Given the description of an element on the screen output the (x, y) to click on. 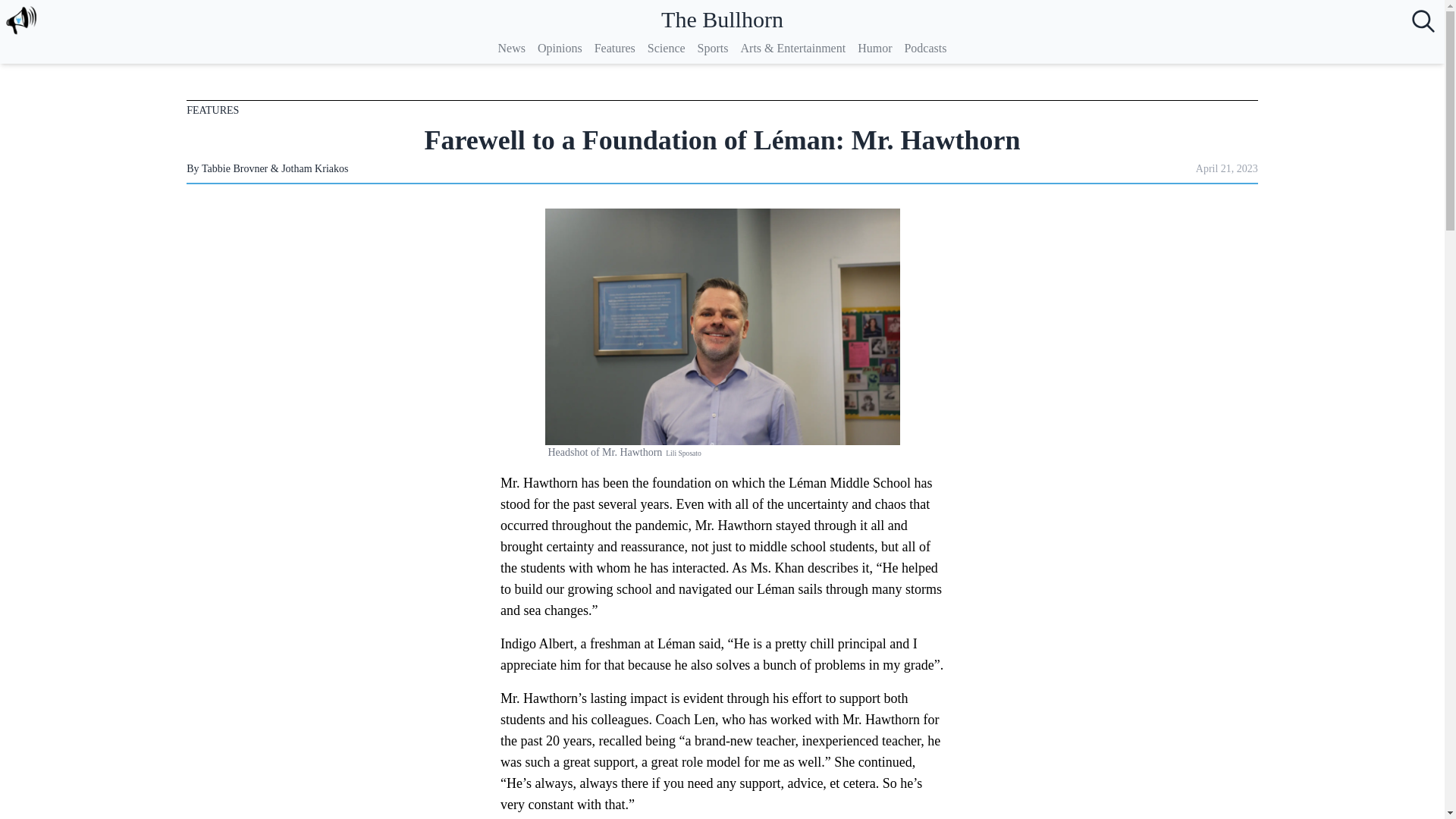
Sports (713, 48)
Jotham Kriakos (314, 168)
Tabbie Brovner (234, 168)
FEATURES (212, 110)
Humor (874, 48)
Opinions (559, 48)
Features (614, 48)
The Bullhorn (722, 19)
News (511, 48)
Podcasts (925, 48)
